Given the description of an element on the screen output the (x, y) to click on. 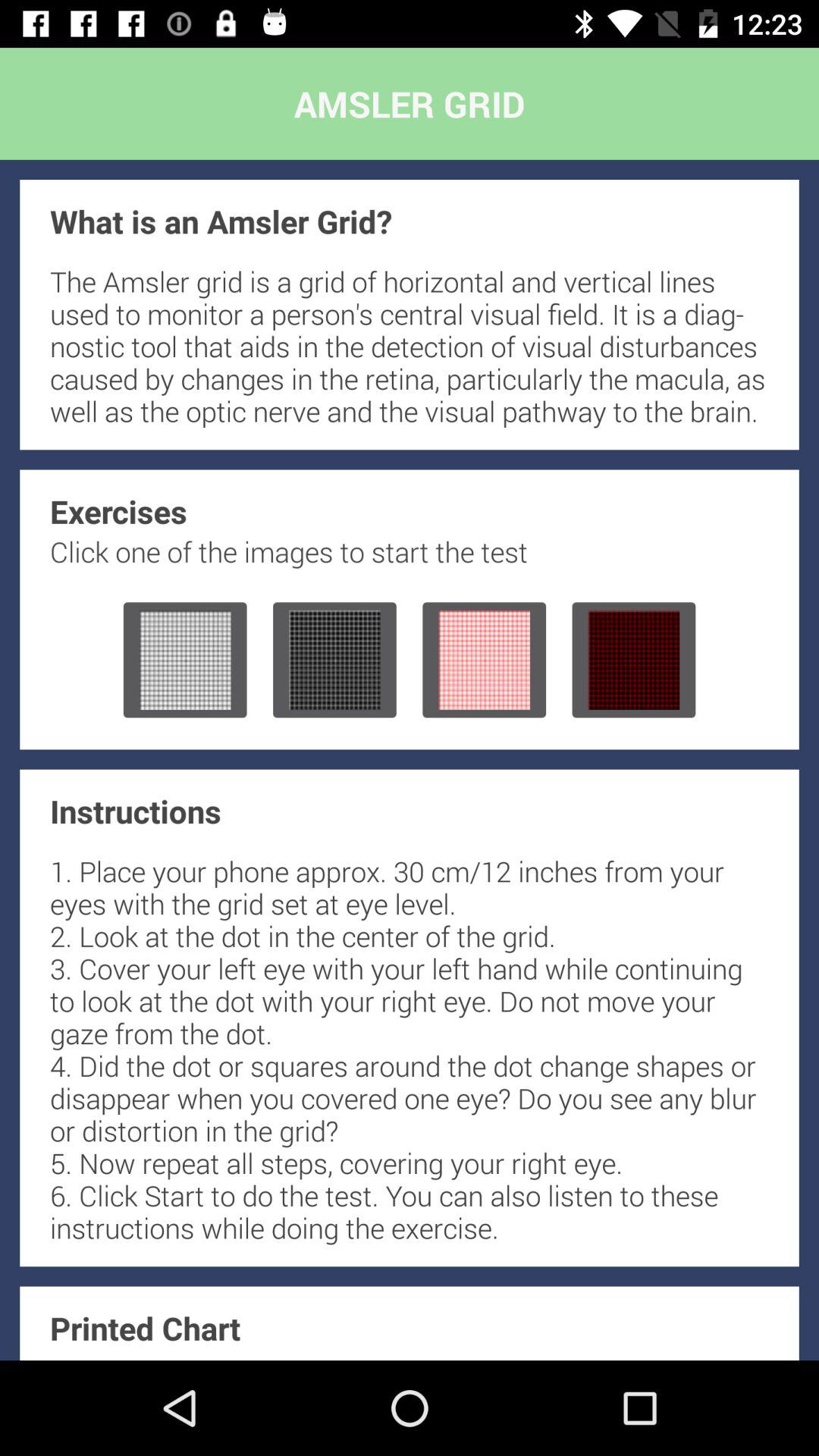
start test (334, 659)
